Given the description of an element on the screen output the (x, y) to click on. 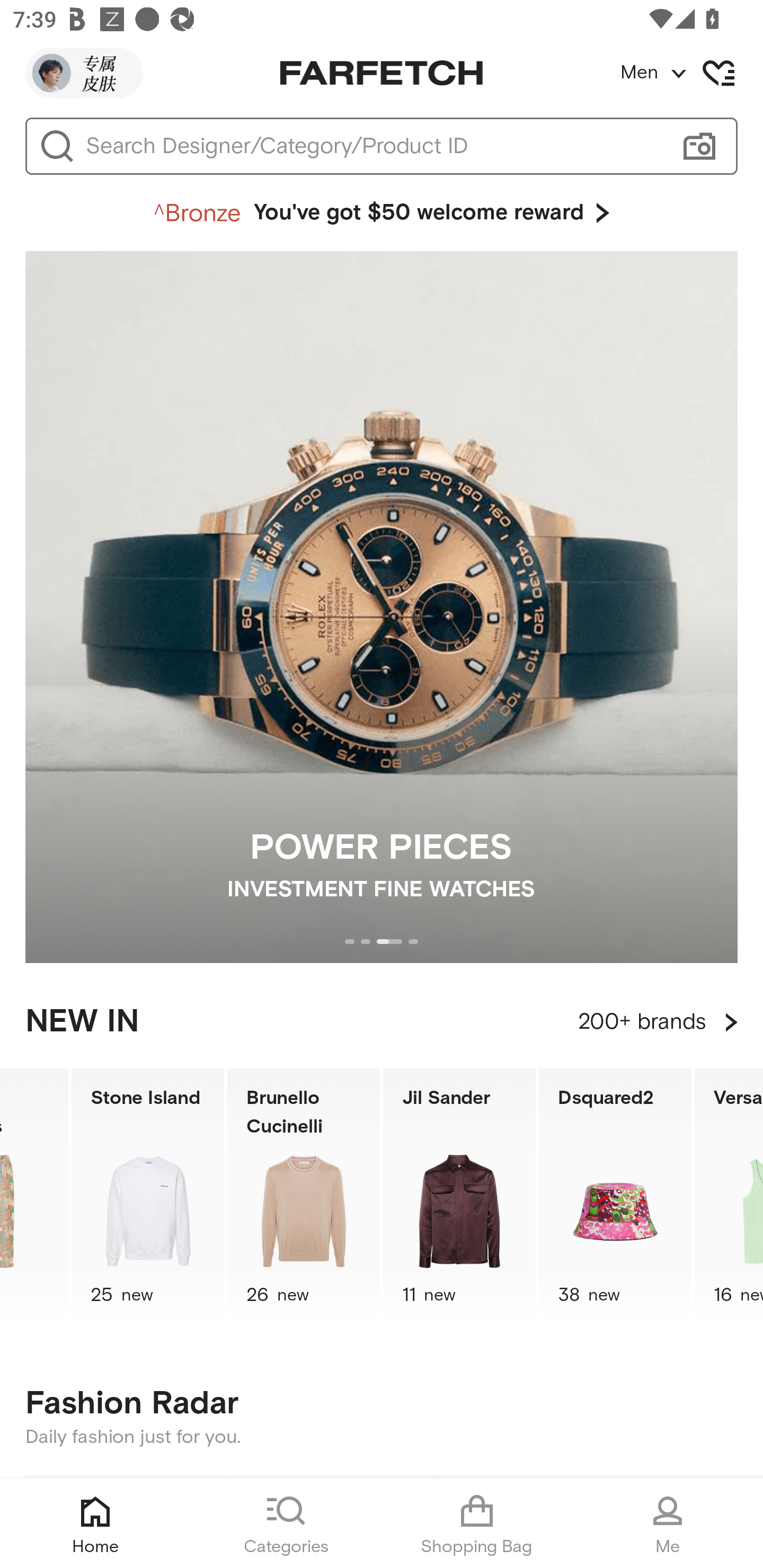
Men (691, 72)
Search Designer/Category/Product ID (373, 146)
You've got $50 welcome reward (381, 213)
NEW IN 200+ brands (381, 1021)
Stone Island 25  new (147, 1196)
Brunello Cucinelli 26  new (303, 1196)
Jil Sander 11  new (459, 1196)
Dsquared2 38  new (614, 1196)
Categories (285, 1523)
Shopping Bag (476, 1523)
Me (667, 1523)
